Given the description of an element on the screen output the (x, y) to click on. 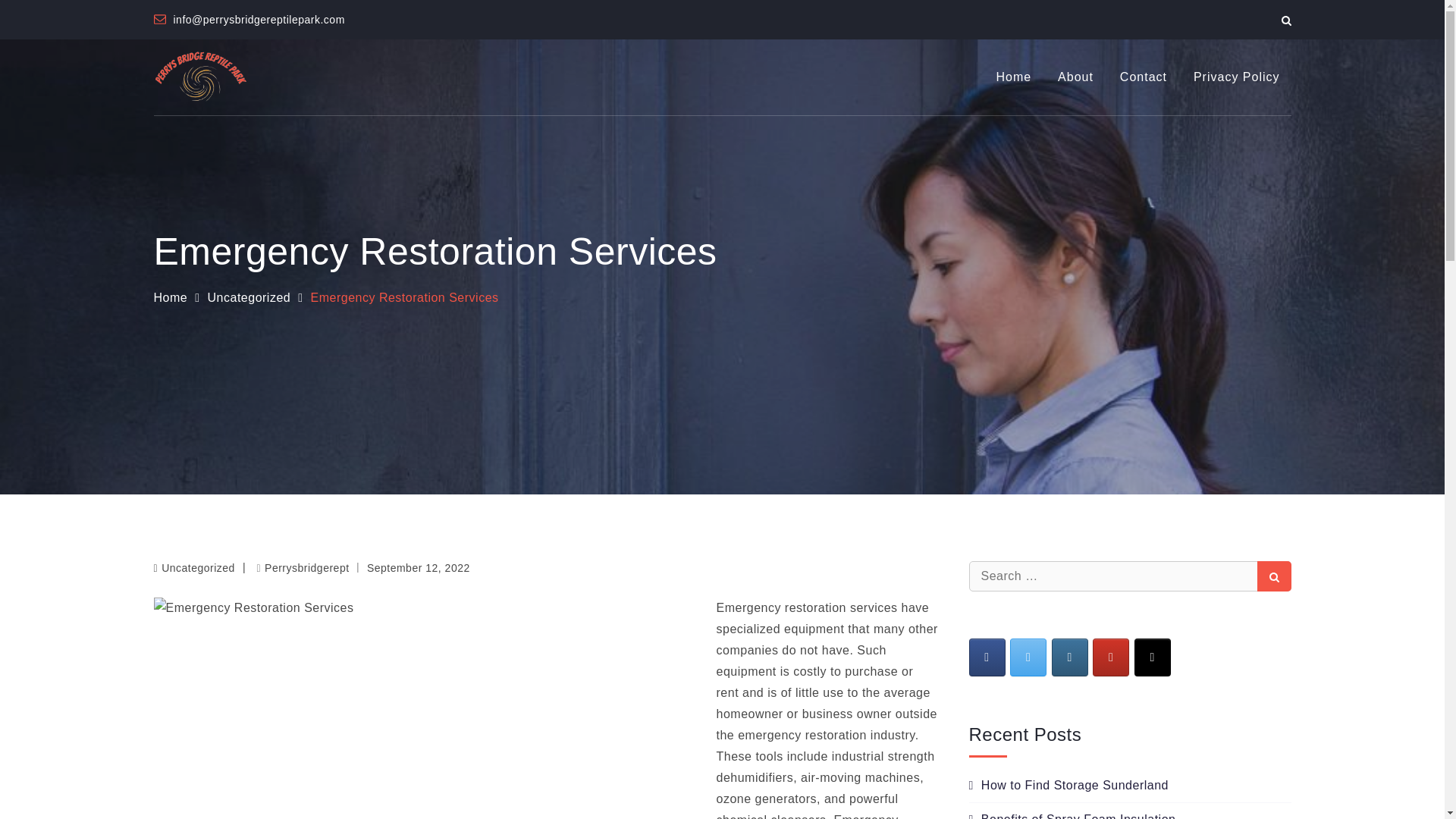
Perrys Bridge Reptile Park on Facebook (987, 657)
Uncategorized (197, 567)
Privacy Policy (1236, 77)
Perrys Bridge Reptile Park on Youtube (1111, 657)
Perrys Bridge Reptile Park (410, 85)
Perrys Bridge Reptile Park on X Twitter (1028, 657)
Home (169, 297)
Perrys Bridge Reptile Park on Tiktok (1152, 657)
Perrys Bridge Reptile Park on Instagram (1069, 657)
How to Find Storage Sunderland (1069, 784)
Uncategorized (249, 297)
Search (1274, 576)
Contact (1142, 77)
Perrysbridgerept (302, 567)
Benefits of Spray Foam Insulation (1072, 816)
